Given the description of an element on the screen output the (x, y) to click on. 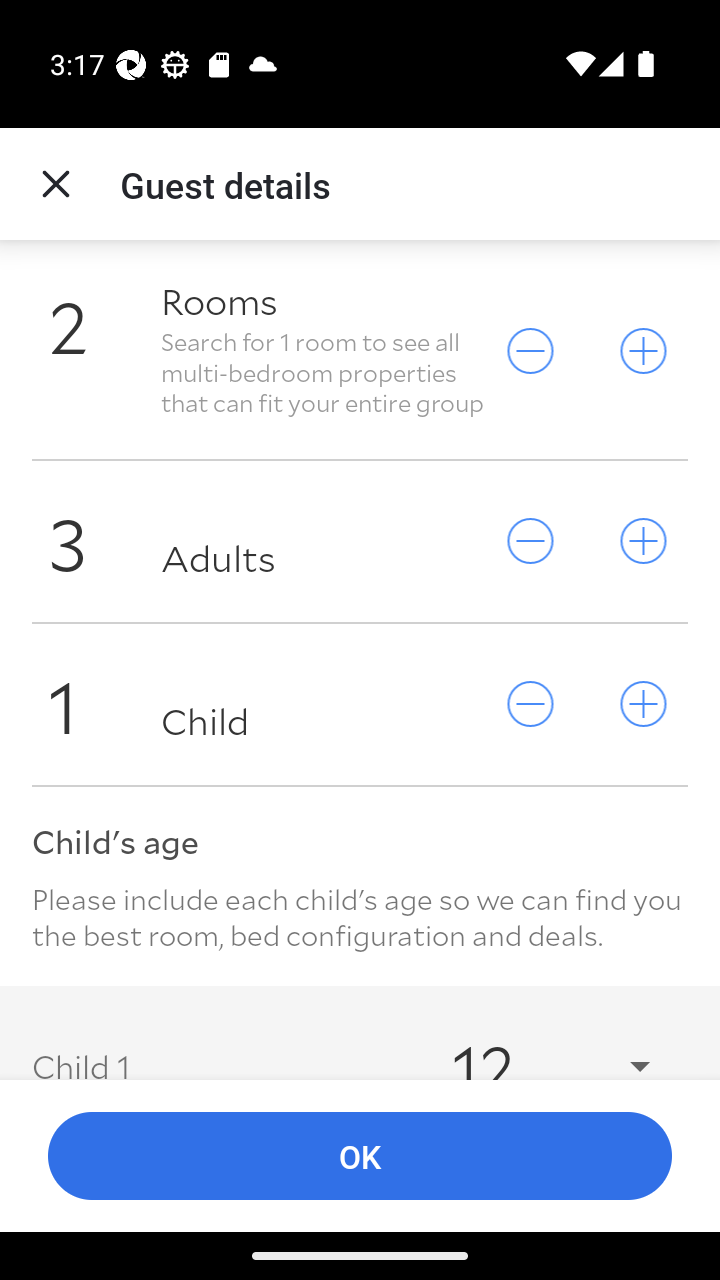
12 (531, 1044)
OK (359, 1156)
